Given the description of an element on the screen output the (x, y) to click on. 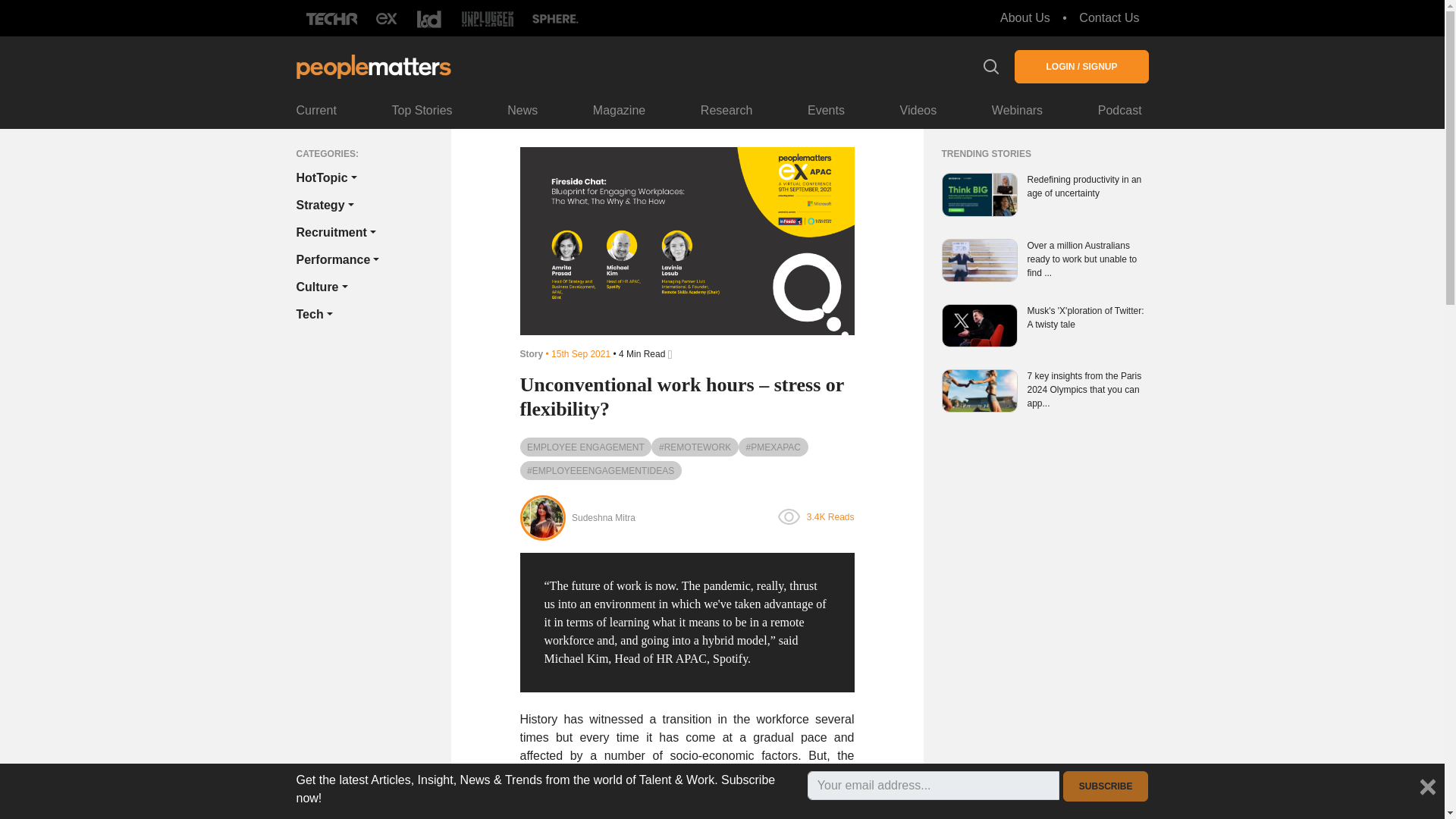
Contact Us (1109, 18)
Redefining productivity in an age of uncertainty (1087, 185)
Events (826, 110)
Videos (918, 110)
News (521, 110)
Magazine (618, 110)
Webinars (1016, 110)
Research (726, 110)
Musk's 'X'ploration of Twitter:  A twisty tale (1087, 317)
Podcast (1120, 110)
